Given the description of an element on the screen output the (x, y) to click on. 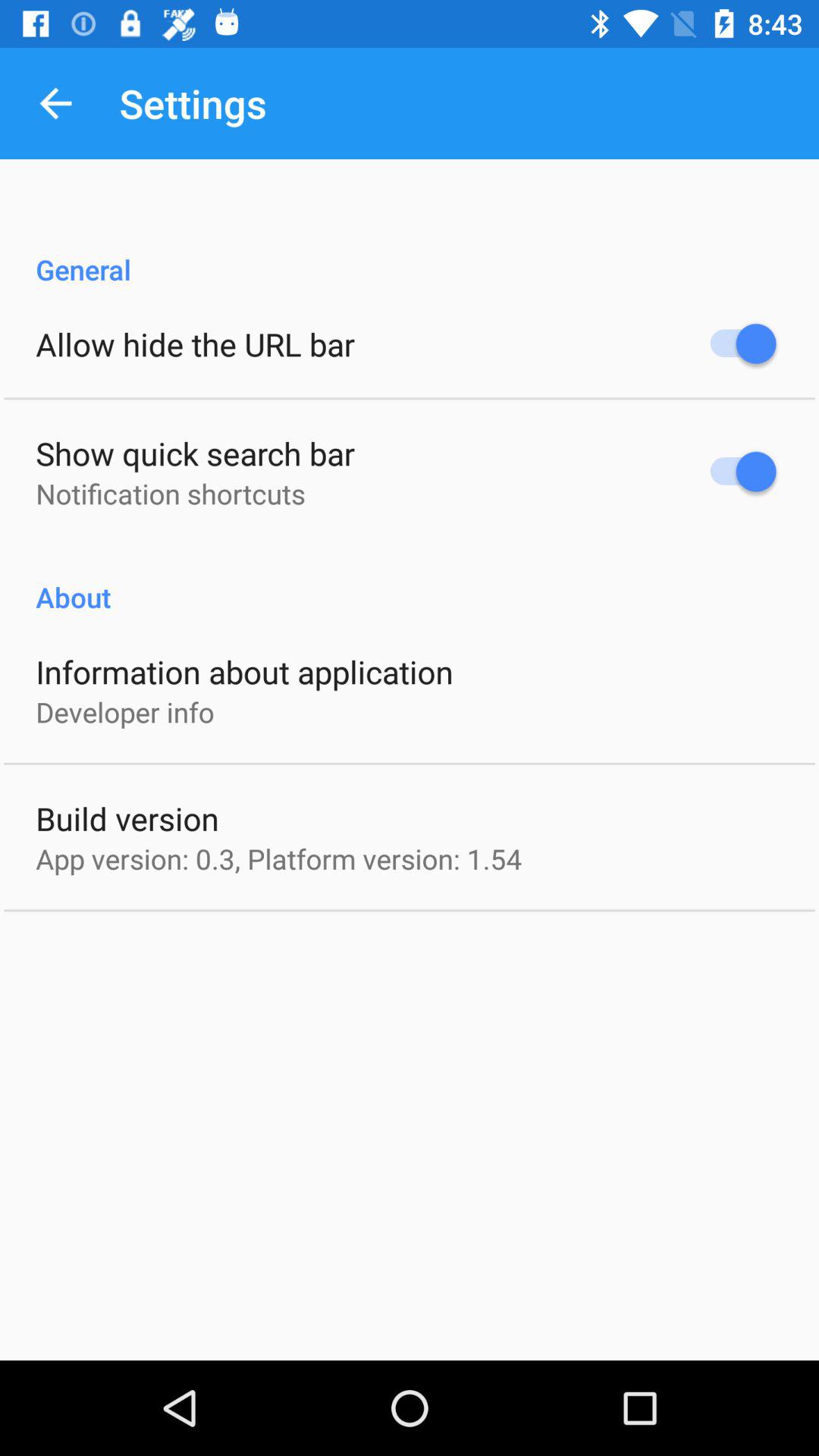
click icon above the general (55, 103)
